Given the description of an element on the screen output the (x, y) to click on. 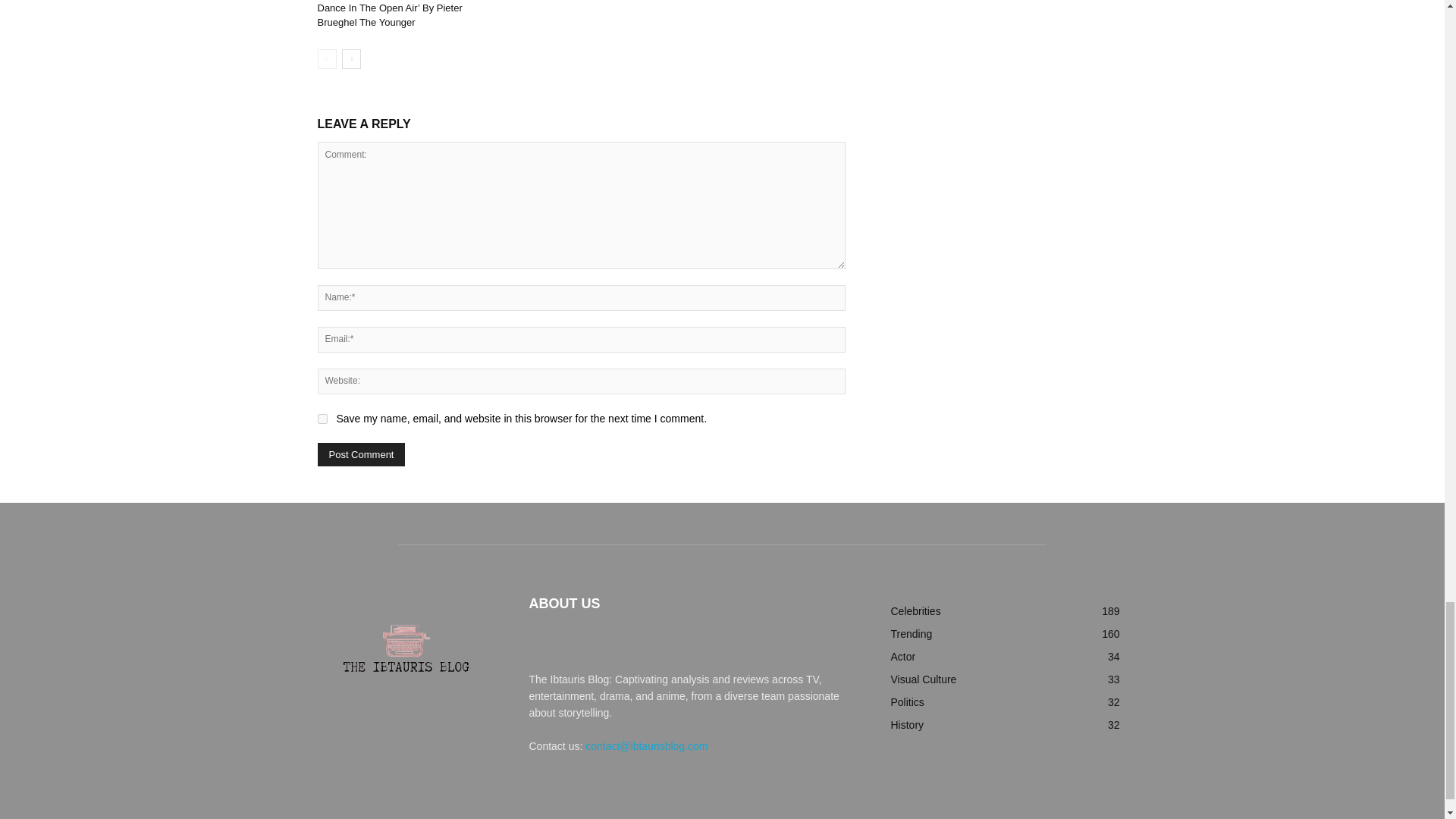
Post Comment (360, 454)
yes (321, 419)
